Given the description of an element on the screen output the (x, y) to click on. 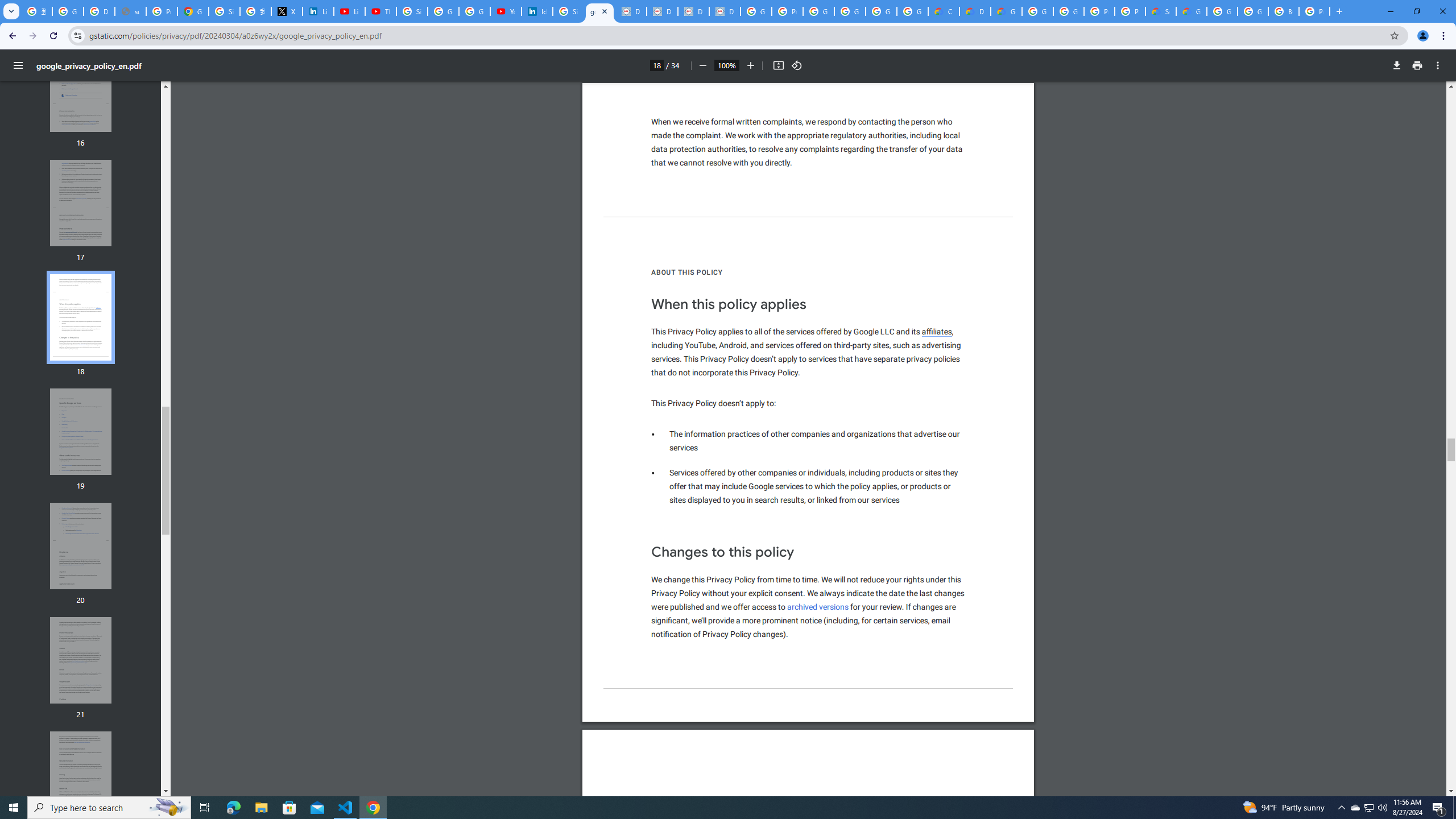
Google Cloud Platform (1068, 11)
Zoom in (750, 65)
Data Privacy Framework (693, 11)
Data Privacy Framework (724, 11)
